Given the description of an element on the screen output the (x, y) to click on. 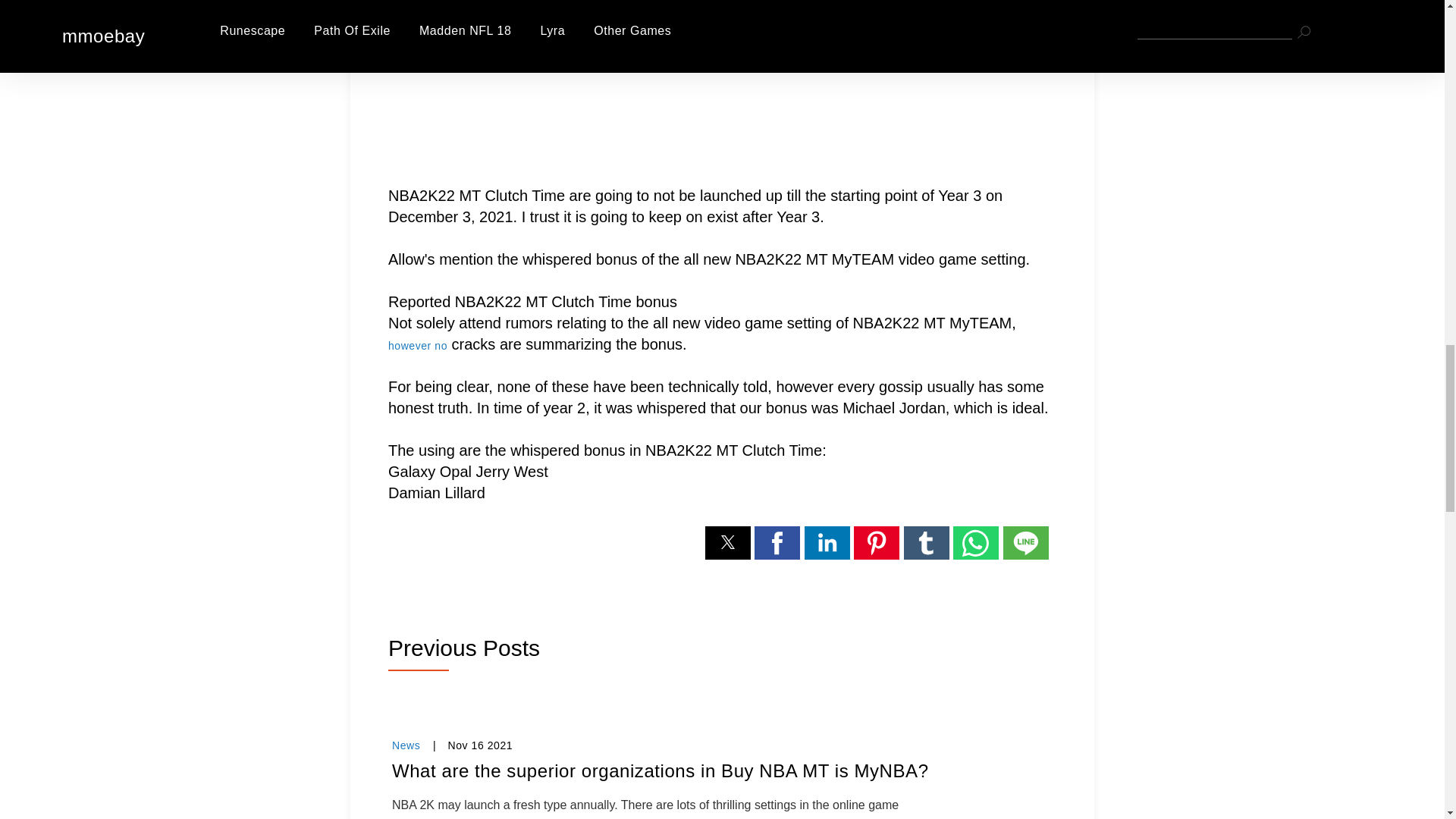
What are the superior organizations in Buy NBA MT is MyNBA? (721, 770)
however no (417, 345)
News (405, 745)
